Given the description of an element on the screen output the (x, y) to click on. 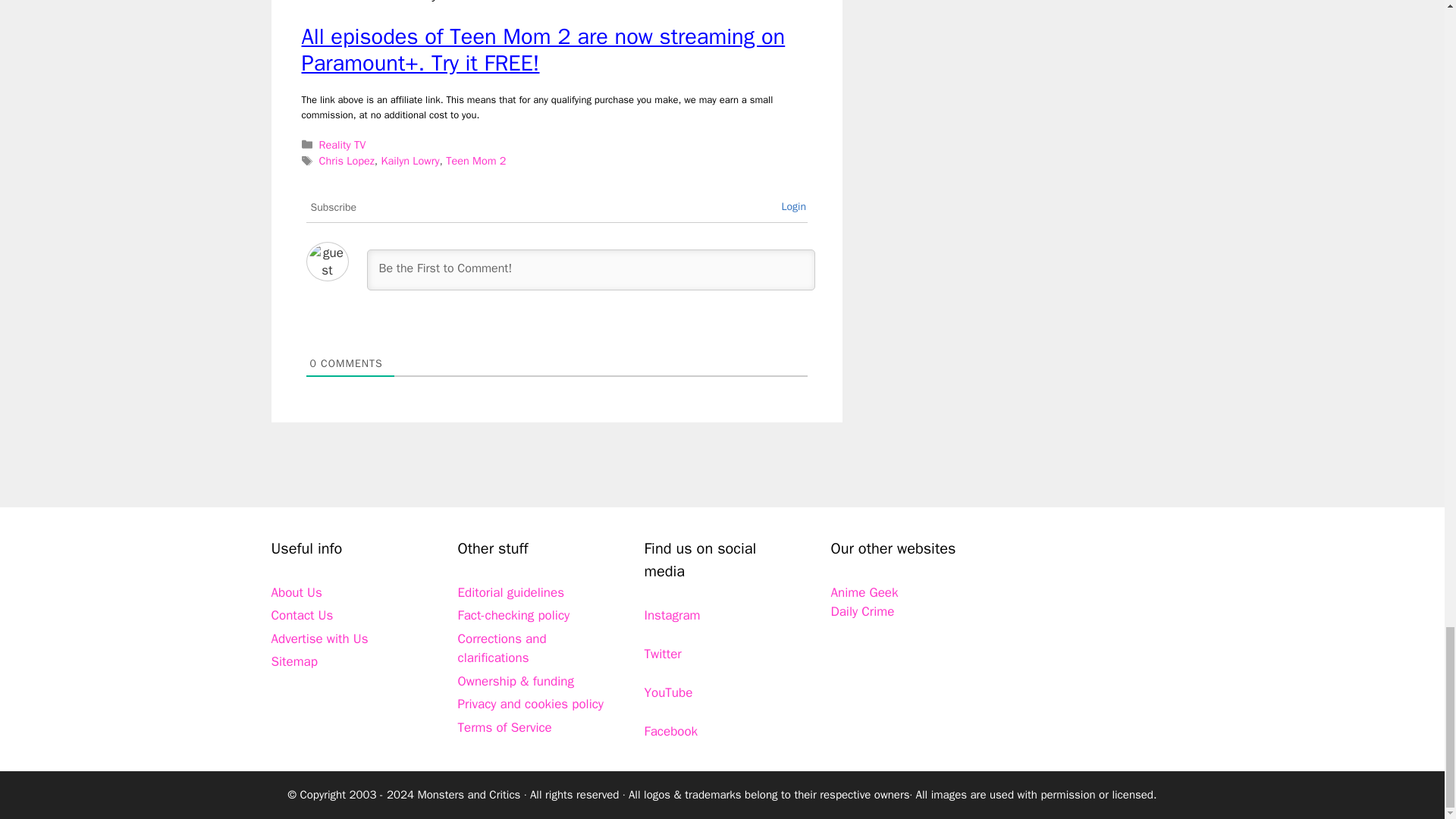
Kailyn Lowry (410, 160)
Login (793, 205)
Reality TV (342, 144)
Advertise with Us (319, 638)
Editorial guidelines (511, 592)
Chris Lopez (346, 160)
Sitemap (293, 661)
Contact Us (301, 615)
Teen Mom 2 (475, 160)
Corrections and clarifications (502, 648)
